Given the description of an element on the screen output the (x, y) to click on. 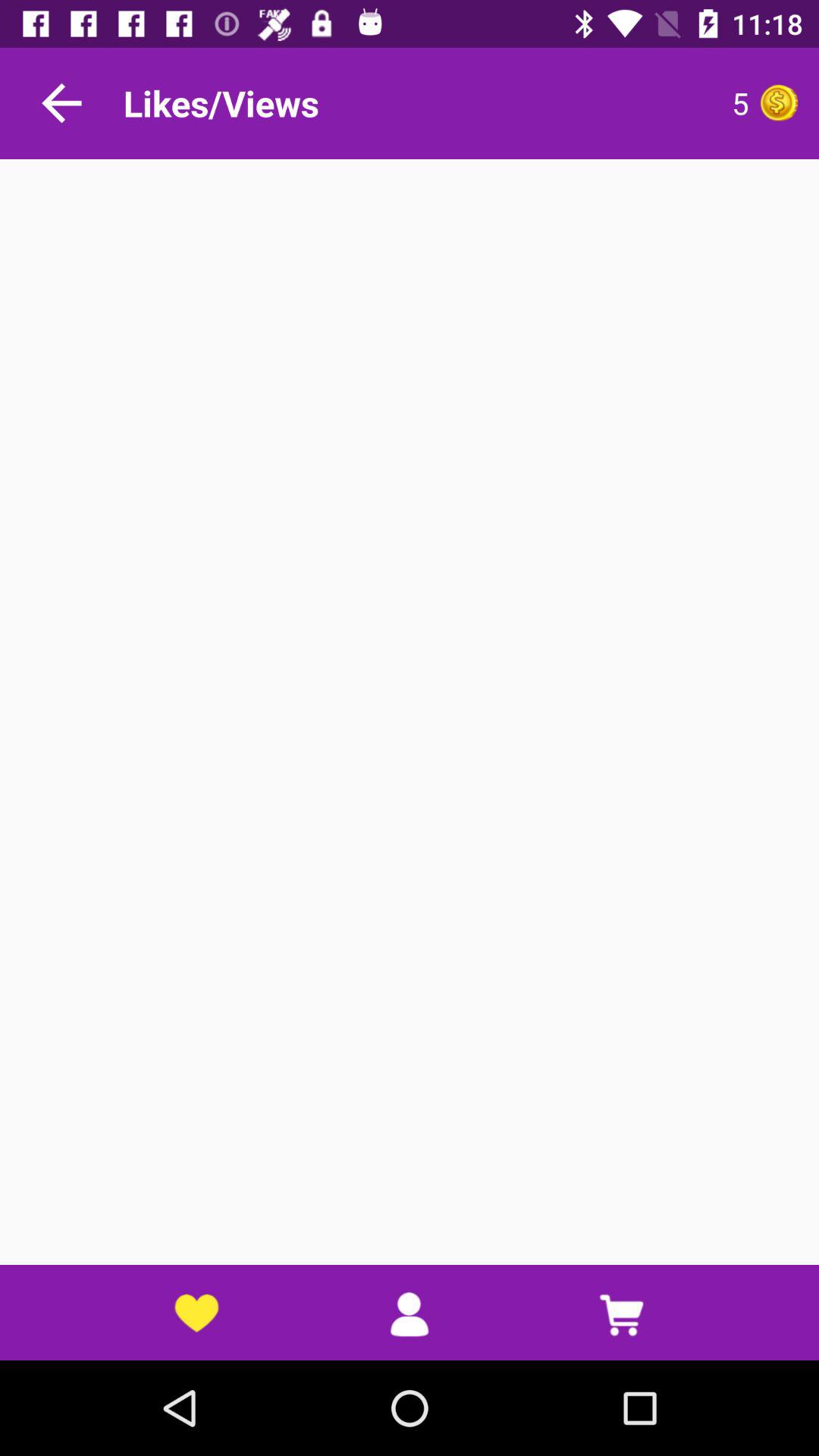
return to previous page (61, 103)
